Given the description of an element on the screen output the (x, y) to click on. 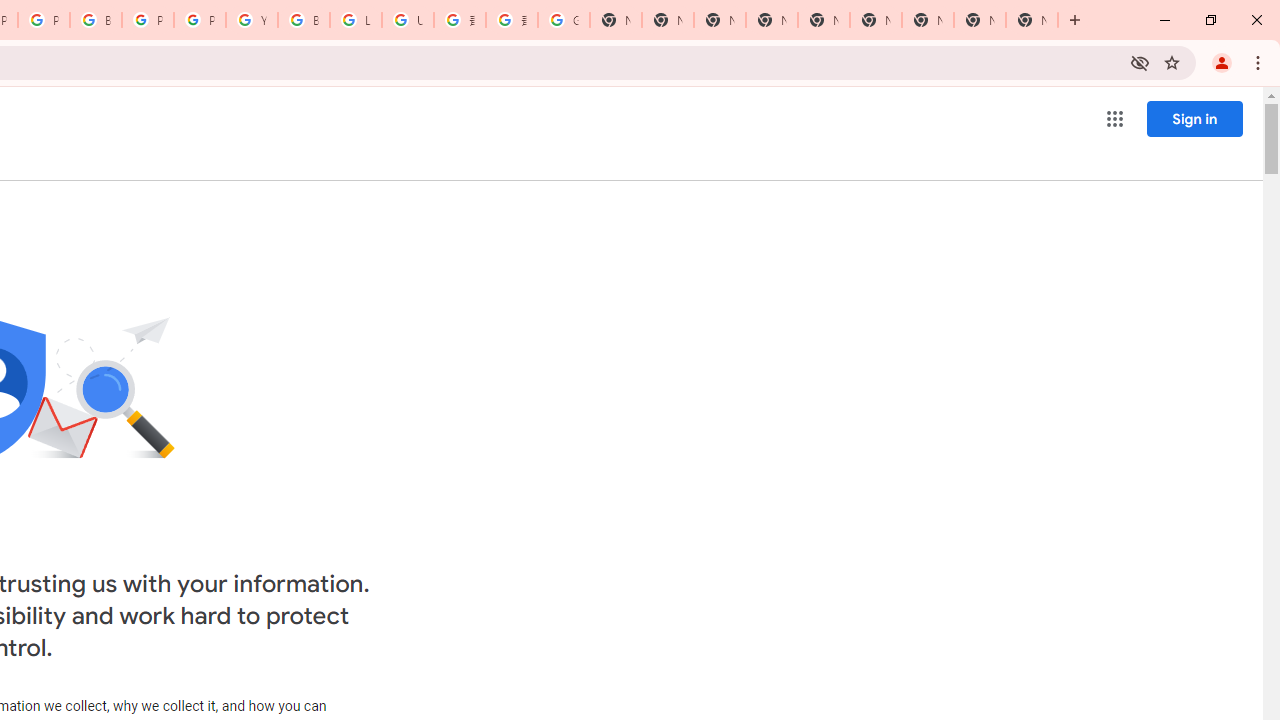
YouTube (251, 20)
Privacy Help Center - Policies Help (43, 20)
